Given the description of an element on the screen output the (x, y) to click on. 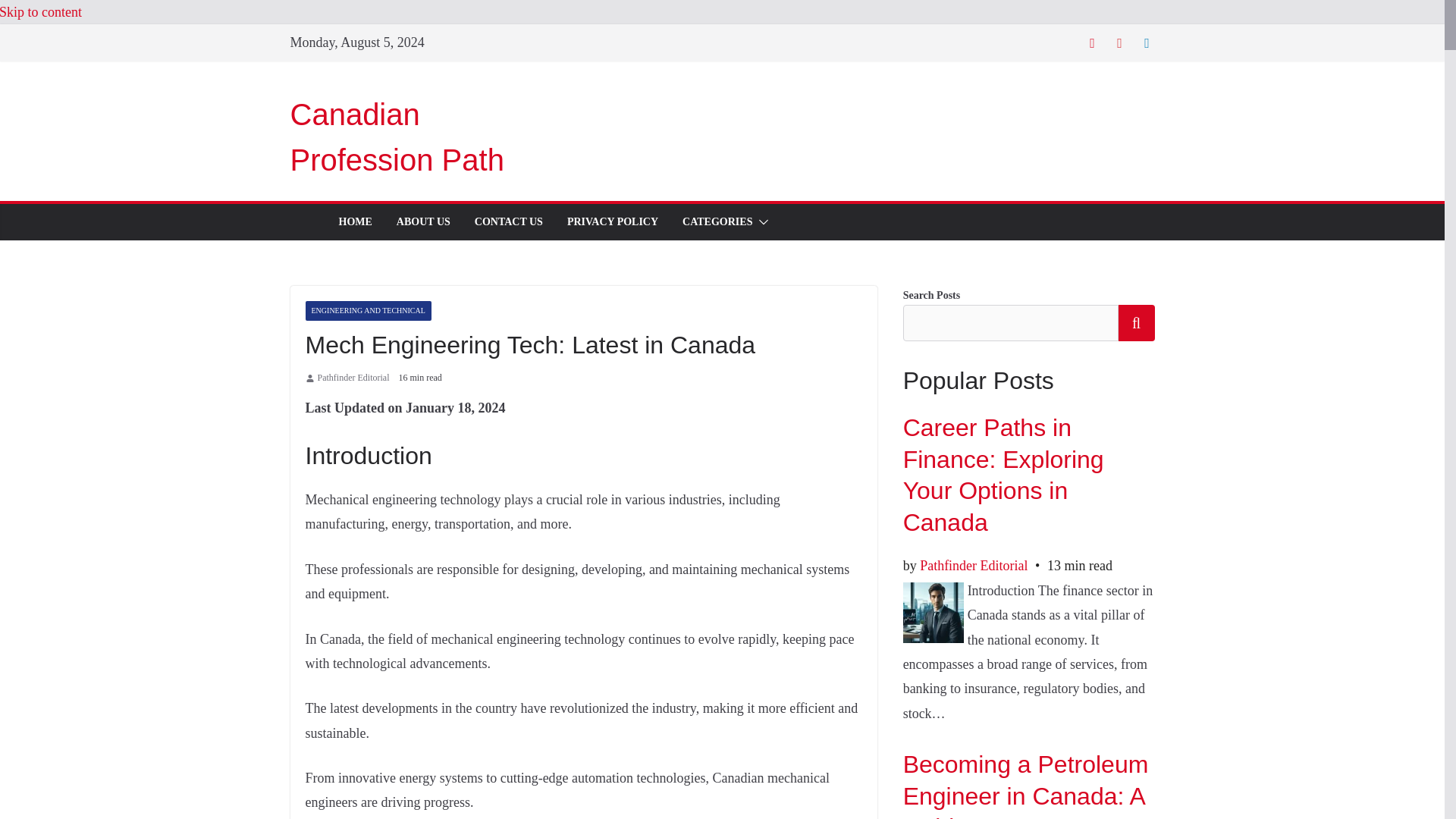
Canadian Profession Path (396, 136)
CONTACT US (508, 221)
Pathfinder Editorial (352, 378)
Skip to content (40, 11)
PRIVACY POLICY (612, 221)
Canadian Profession Path (396, 136)
Pathfinder Editorial (352, 378)
Twitter (1091, 43)
ENGINEERING AND TECHNICAL (367, 311)
ABOUT US (422, 221)
